Given the description of an element on the screen output the (x, y) to click on. 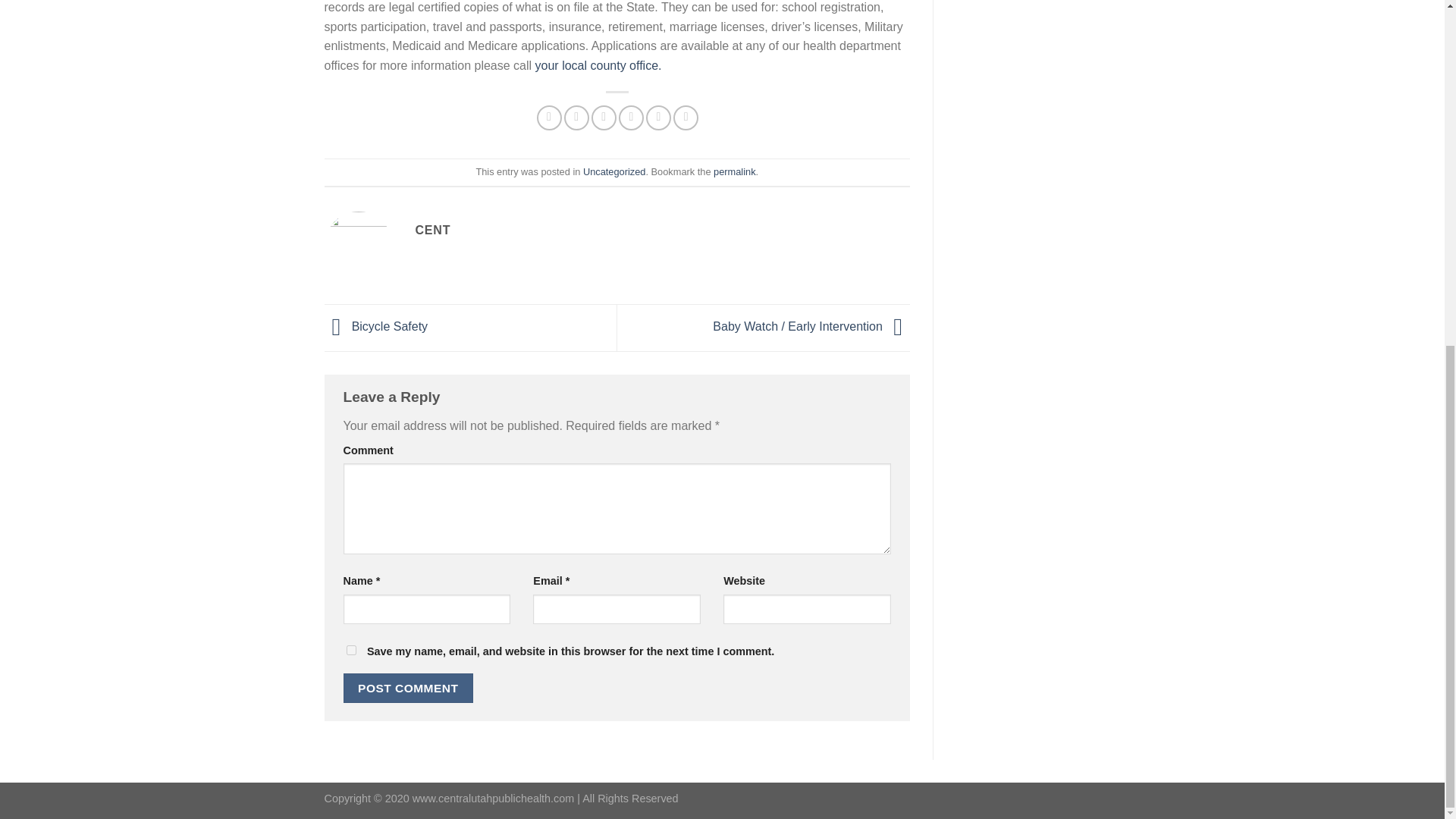
Post Comment (407, 687)
Share on LinkedIn (685, 117)
Share on Facebook (549, 117)
Permalink to Vital Records (734, 171)
Uncategorized (614, 171)
your local county office. (598, 65)
yes (350, 650)
permalink (734, 171)
Bicycle Safety (376, 327)
Pin on Pinterest (630, 117)
Share on Twitter (576, 117)
Post Comment (407, 687)
Email to a Friend (603, 117)
